Given the description of an element on the screen output the (x, y) to click on. 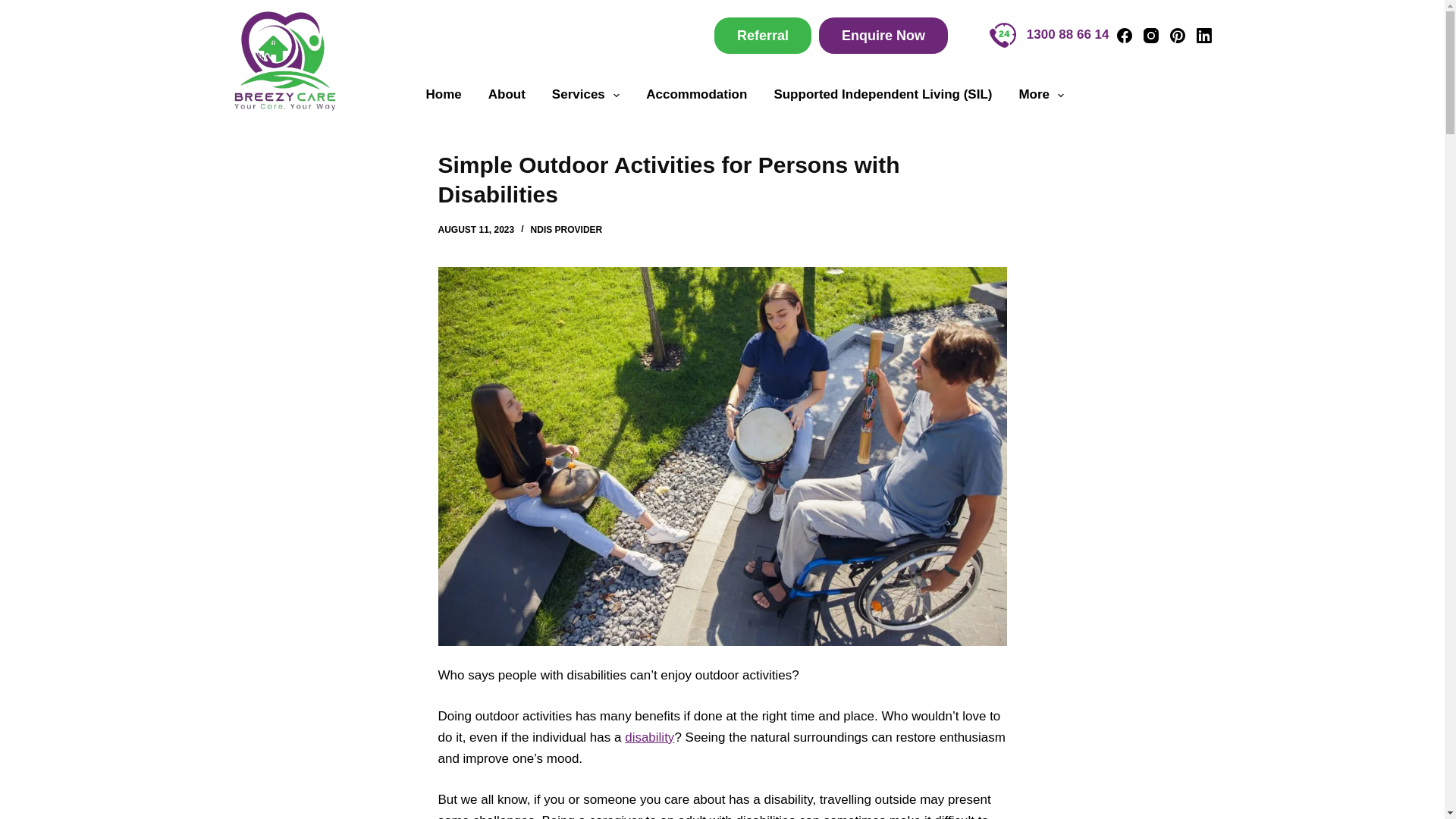
Referral (762, 34)
Home (443, 95)
Simple Outdoor Activities for Persons with Disabilities (722, 179)
Enquire Now (882, 34)
1300 88 66 14 (1049, 35)
About (506, 95)
Skip to content (15, 7)
Services (584, 95)
